Given the description of an element on the screen output the (x, y) to click on. 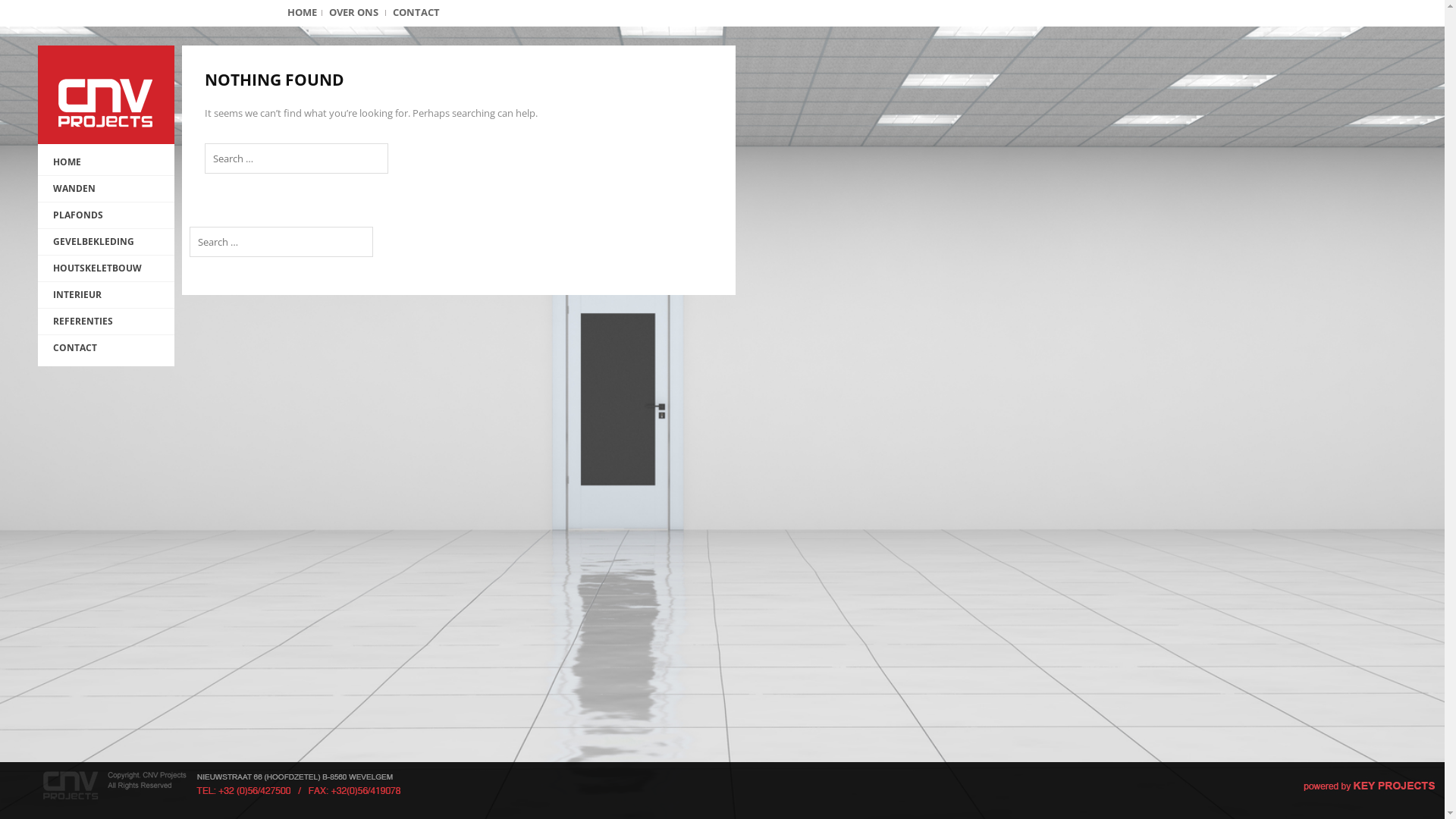
HOUTSKELETBOUW Element type: text (105, 268)
Search Element type: text (30, 13)
GEVELBEKLEDING Element type: text (105, 241)
CONTACT Element type: text (105, 347)
HOME Element type: text (301, 11)
HOME Element type: text (105, 162)
REFERENTIES Element type: text (105, 321)
CONTACT Element type: text (415, 11)
PLAFONDS Element type: text (105, 215)
INTERIEUR Element type: text (105, 294)
WANDEN Element type: text (105, 188)
OVER ONS Element type: text (353, 11)
